Given the description of an element on the screen output the (x, y) to click on. 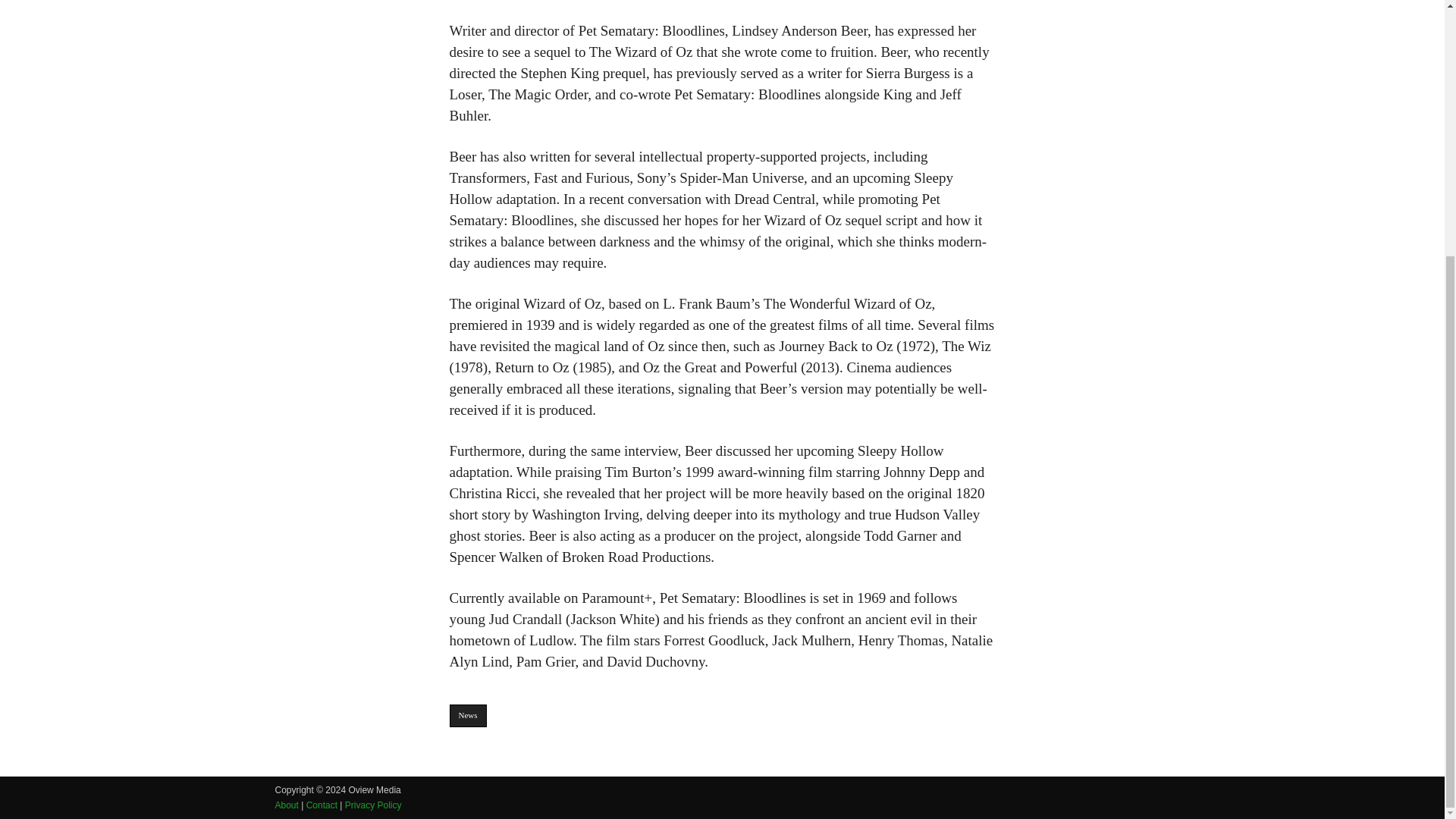
News (467, 715)
About (286, 805)
Contact (321, 805)
Privacy Policy (373, 805)
